Given the description of an element on the screen output the (x, y) to click on. 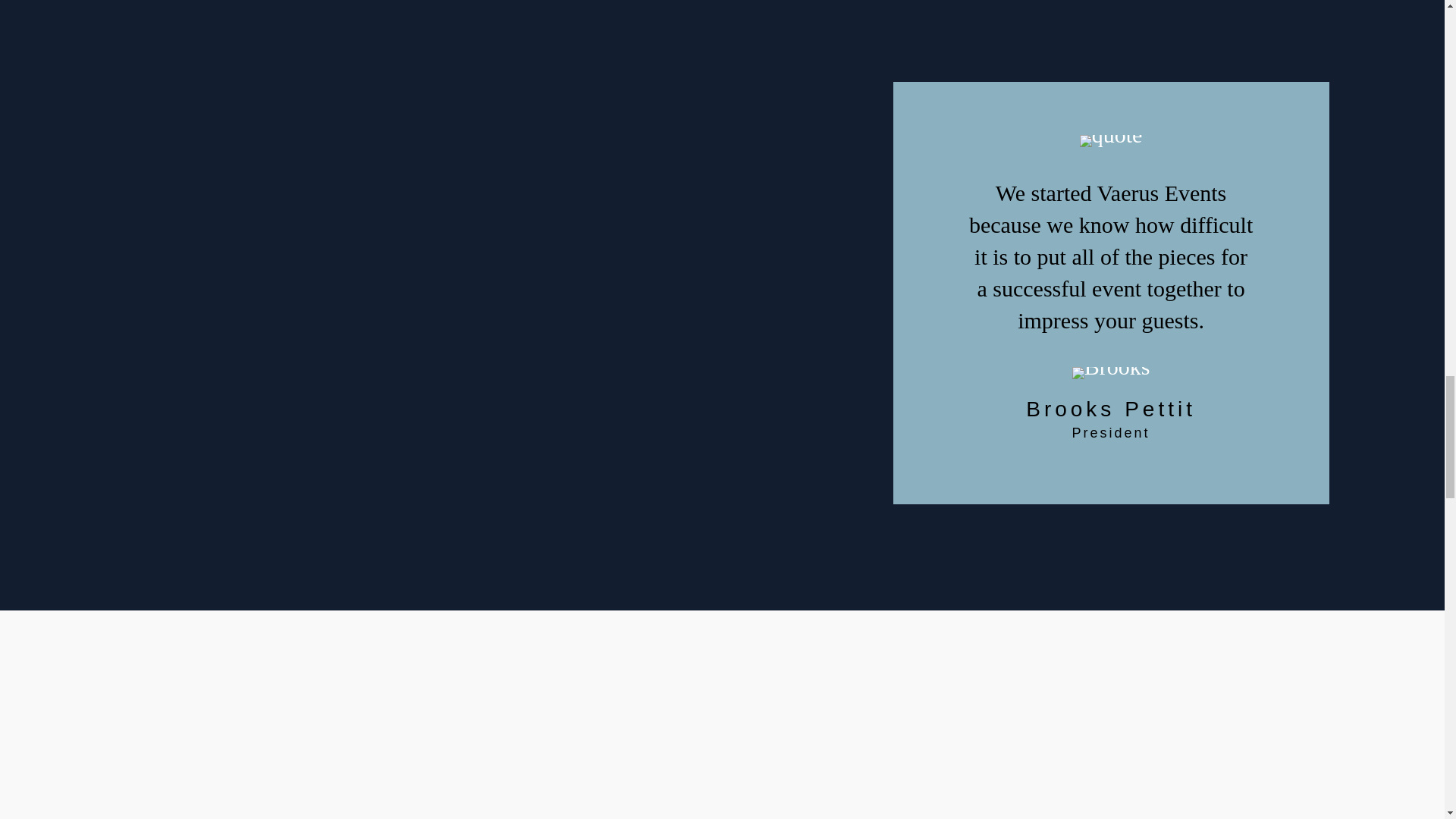
quote (1111, 141)
brooks (1110, 372)
